Given the description of an element on the screen output the (x, y) to click on. 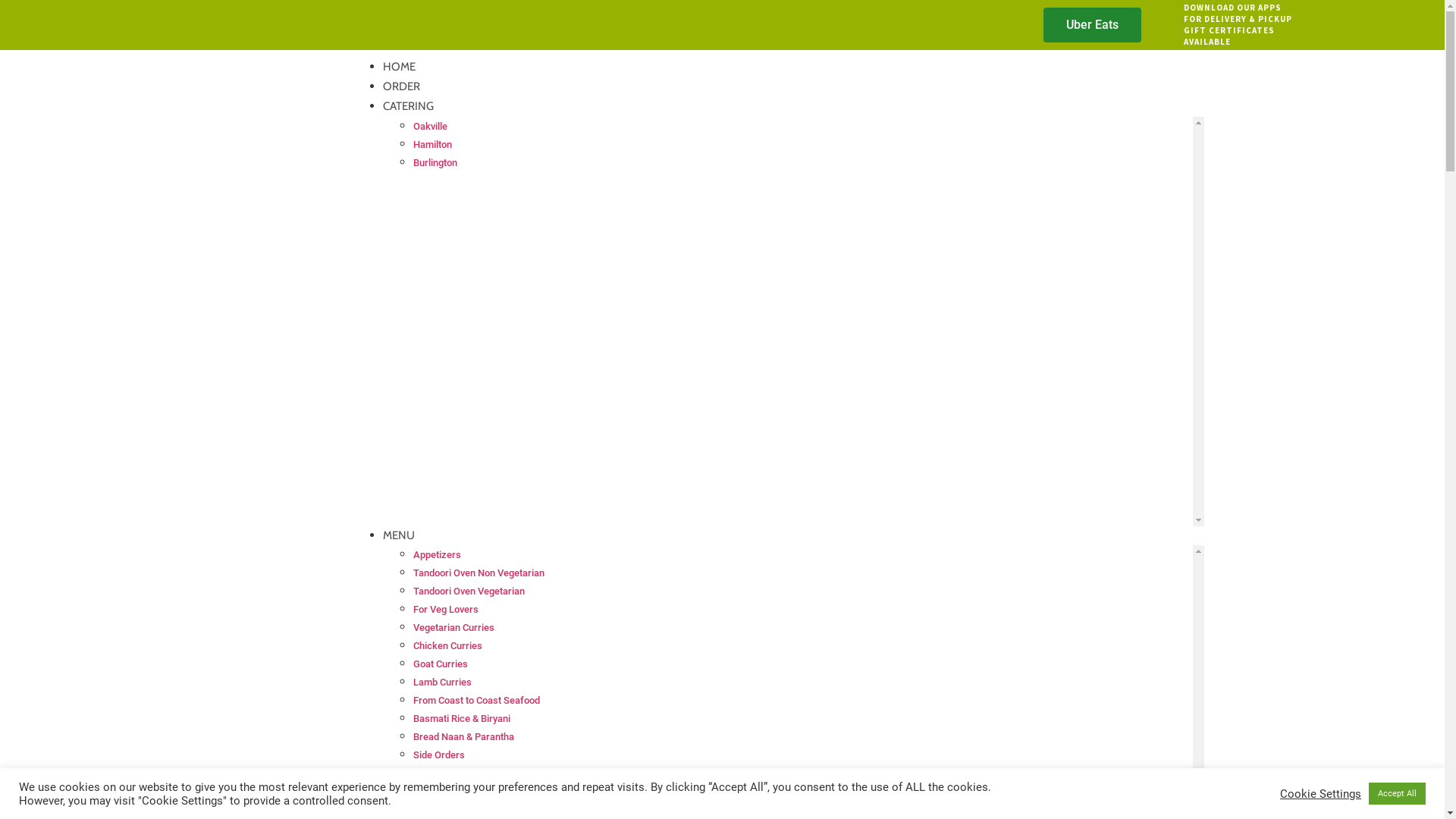
Tandoori Oven Non Vegetarian Element type: text (478, 572)
Basmati Rice & Biryani Element type: text (461, 718)
Beverages & MockTails Element type: text (463, 791)
CATERING Element type: text (407, 105)
For Veg Lovers Element type: text (445, 609)
Accept All Element type: text (1396, 793)
Bread Naan & Parantha Element type: text (463, 736)
ORDER Element type: text (401, 86)
Hamilton Element type: text (432, 144)
Appetizers Element type: text (437, 554)
Vegetarian Curries Element type: text (453, 627)
Cookie Settings Element type: text (1320, 793)
From Coast to Coast Seafood Element type: text (476, 700)
Oakville Element type: text (430, 126)
Side Orders Element type: text (438, 754)
Burlington Element type: text (435, 162)
MENU Element type: text (398, 535)
Lamb Curries Element type: text (442, 681)
Desserts Element type: text (433, 772)
HOME Element type: text (398, 66)
Tandoori Oven Vegetarian Element type: text (468, 590)
Uber Eats Element type: text (1092, 24)
Chicken Curries Element type: text (447, 645)
Goat Curries Element type: text (440, 663)
